Given the description of an element on the screen output the (x, y) to click on. 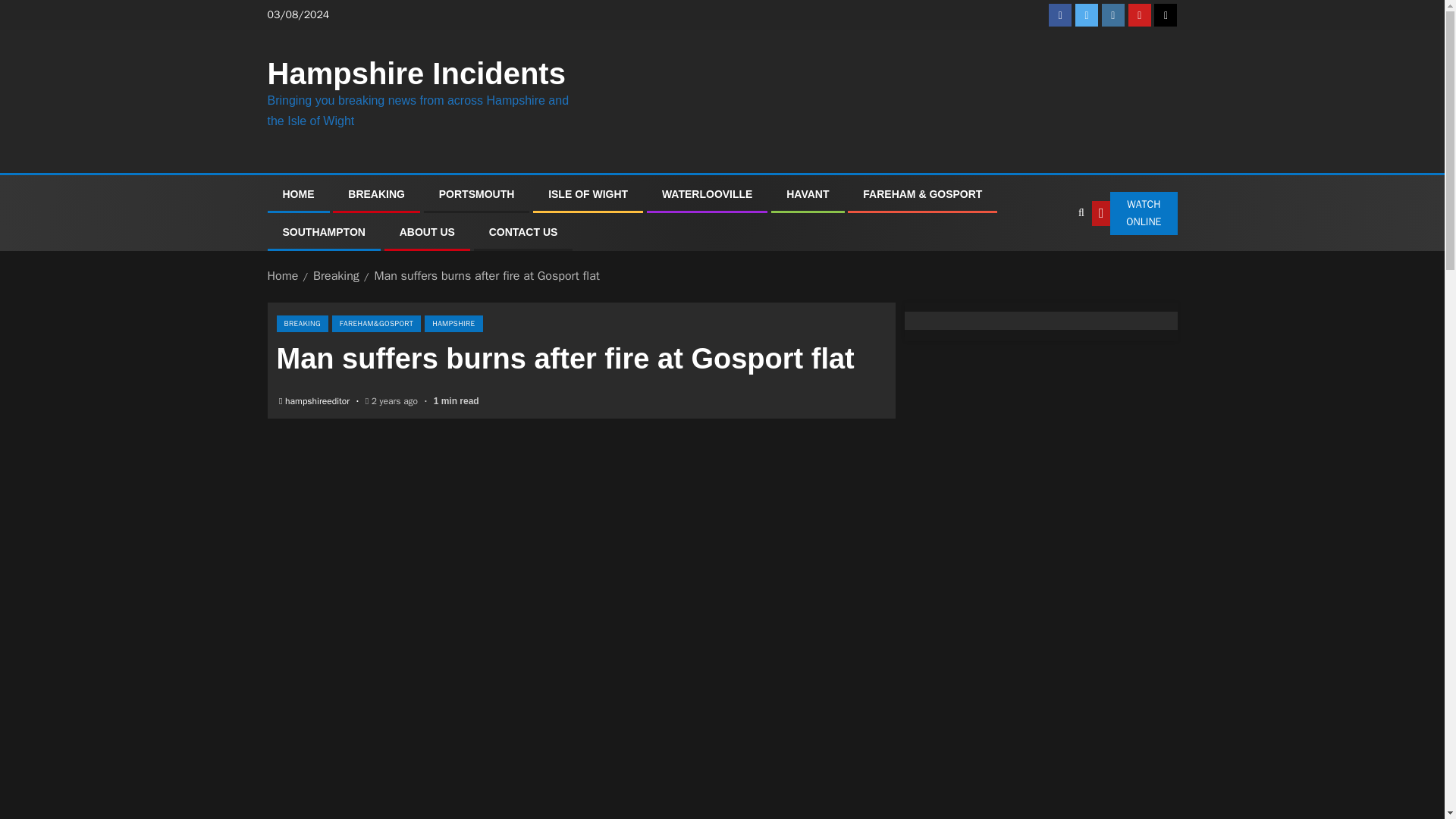
ABOUT US (426, 232)
HOME (298, 193)
BREAKING (301, 323)
Hampshire Incidents (415, 73)
Home (282, 275)
Search (1049, 258)
SOUTHAMPTON (323, 232)
HAMPSHIRE (453, 323)
Breaking (336, 275)
HAVANT (807, 193)
